Given the description of an element on the screen output the (x, y) to click on. 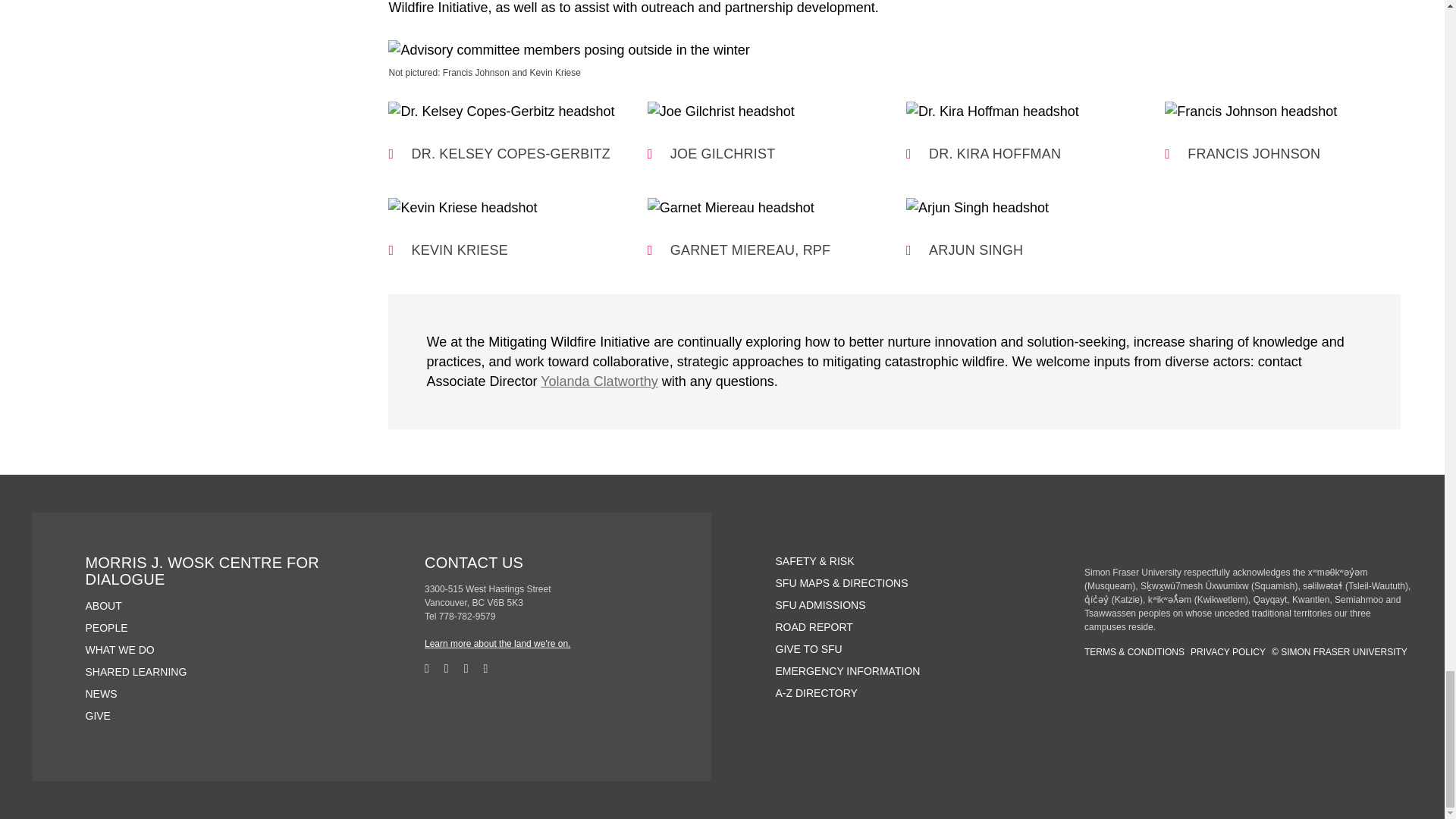
Web Banner Template - 51 (894, 49)
